Given the description of an element on the screen output the (x, y) to click on. 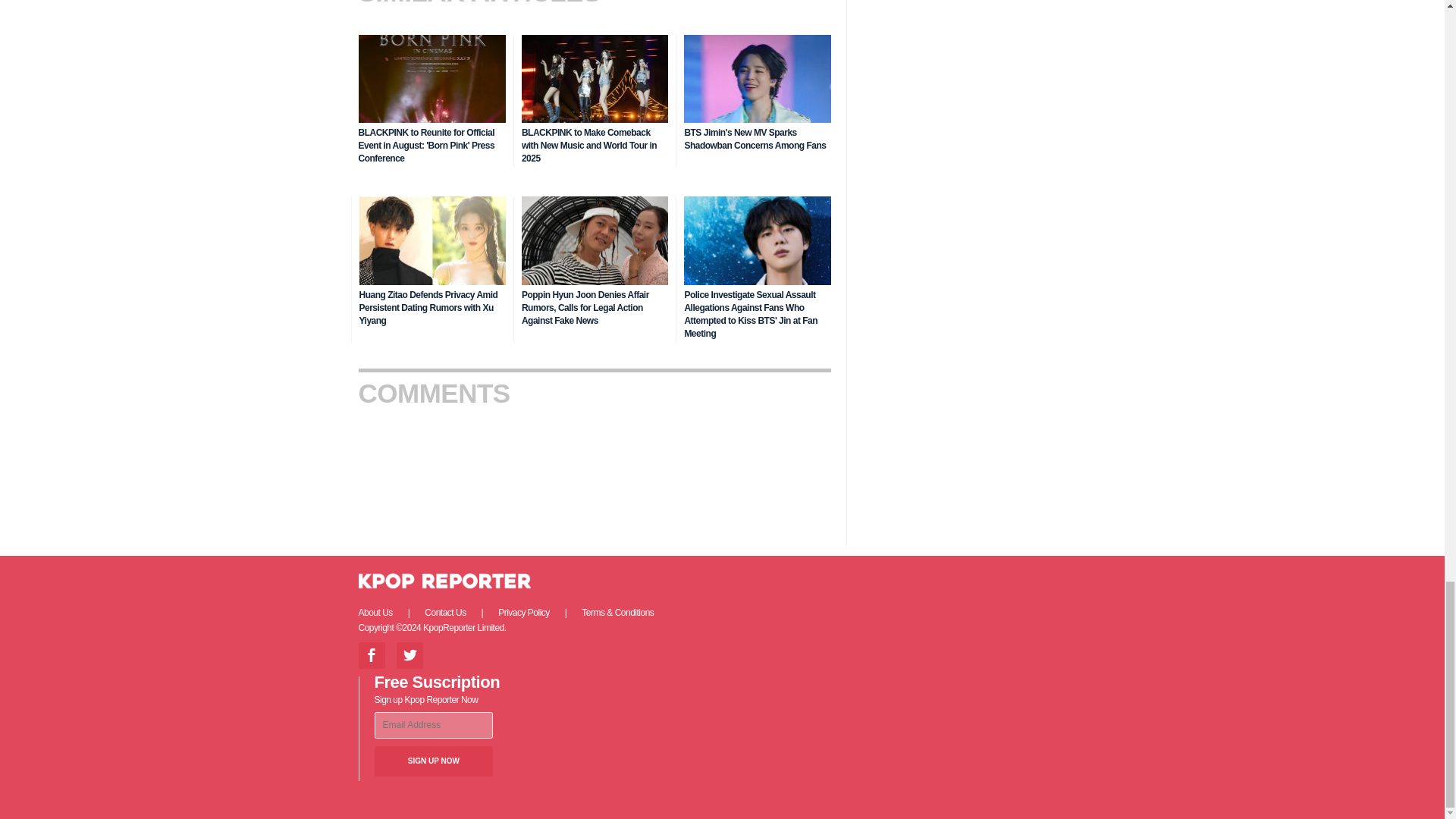
Sign up Now (433, 761)
BTS Jimin's New MV Sparks Shadowban Concerns Among Fans (754, 138)
